Given the description of an element on the screen output the (x, y) to click on. 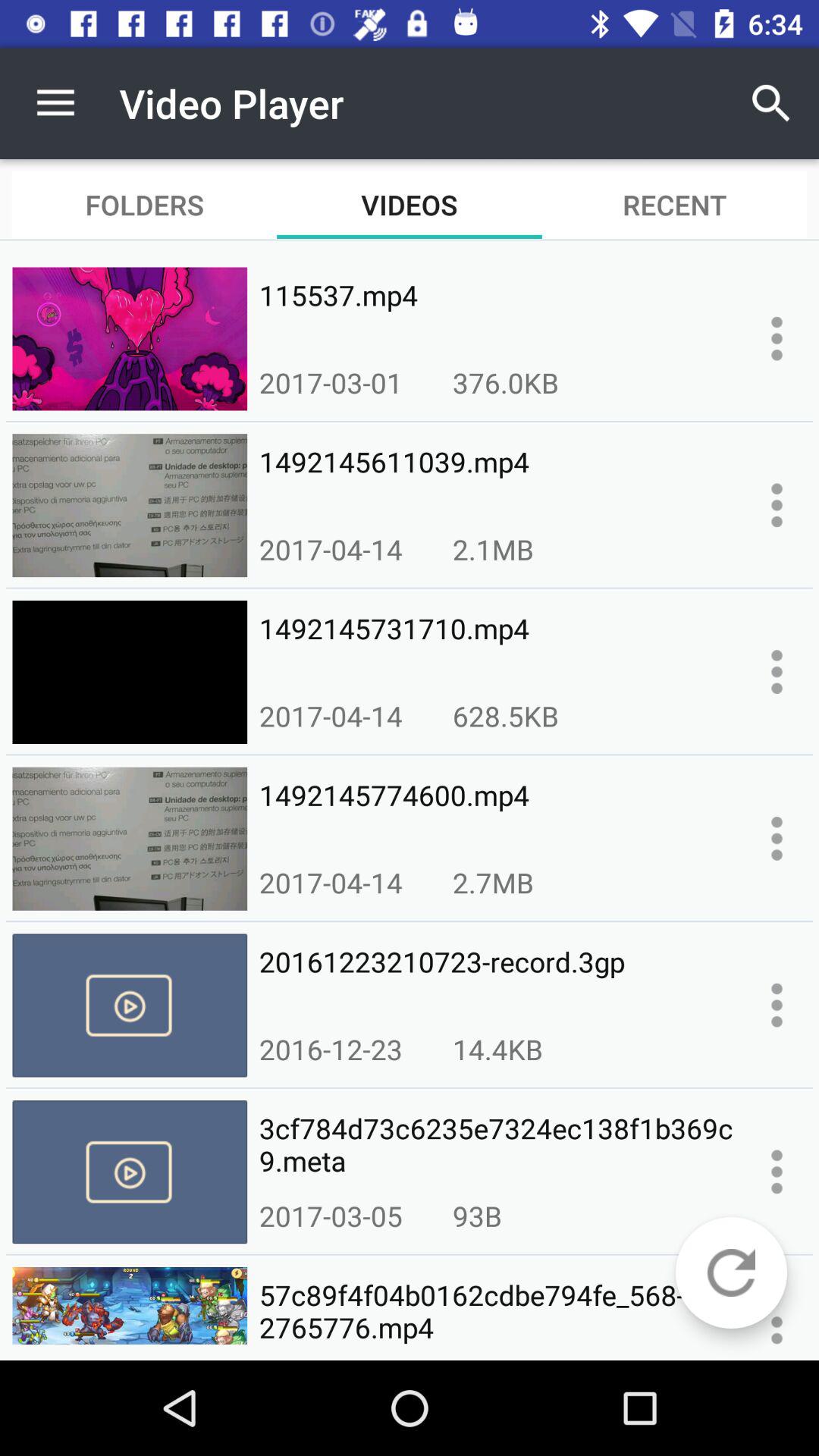
open options (776, 338)
